Given the description of an element on the screen output the (x, y) to click on. 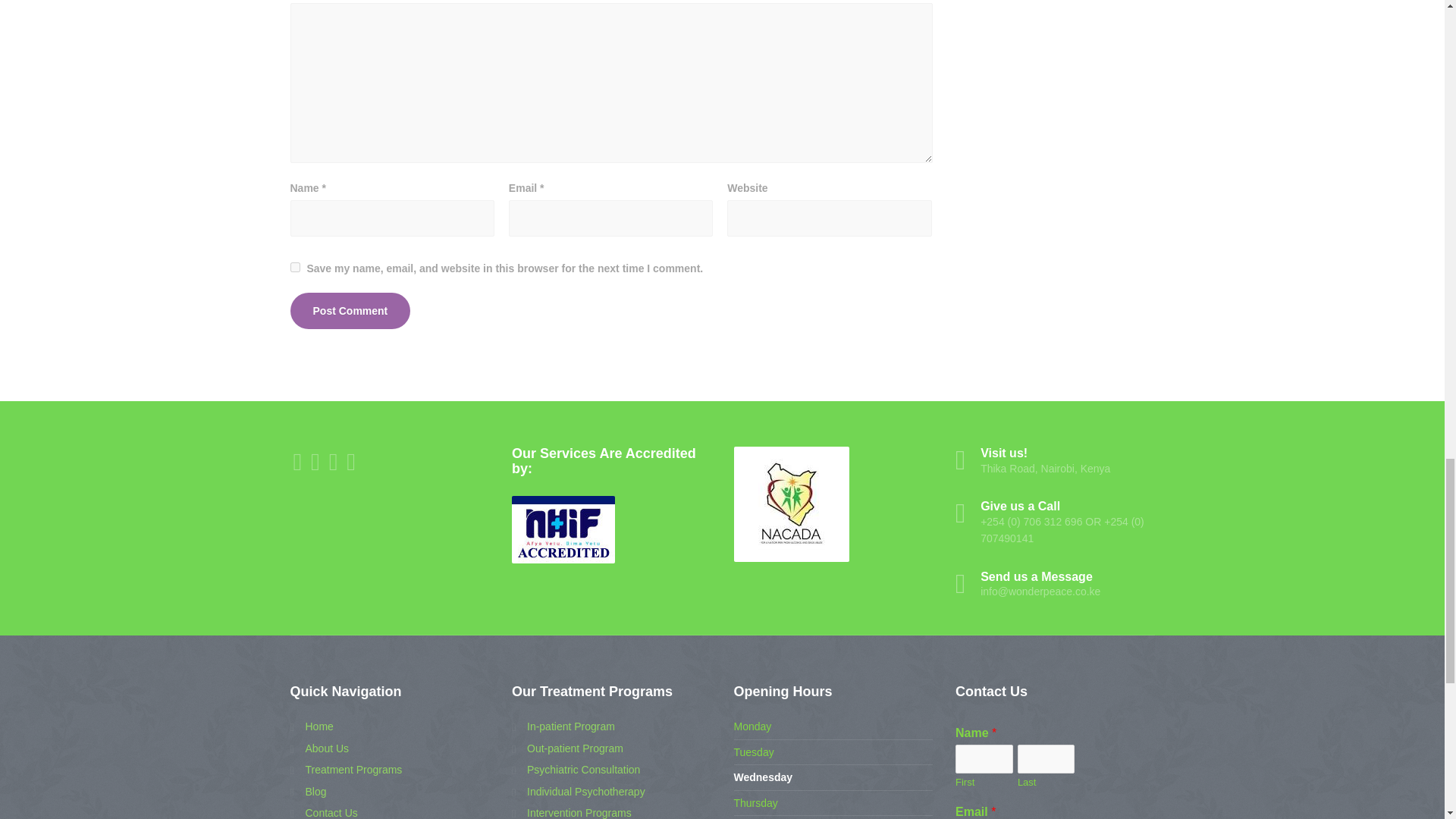
yes (294, 266)
Treatment Programs (345, 769)
Home (311, 726)
Post Comment (349, 310)
About Us (319, 748)
Post Comment (349, 310)
Our Services Are Accredited by (563, 529)
